Given the description of an element on the screen output the (x, y) to click on. 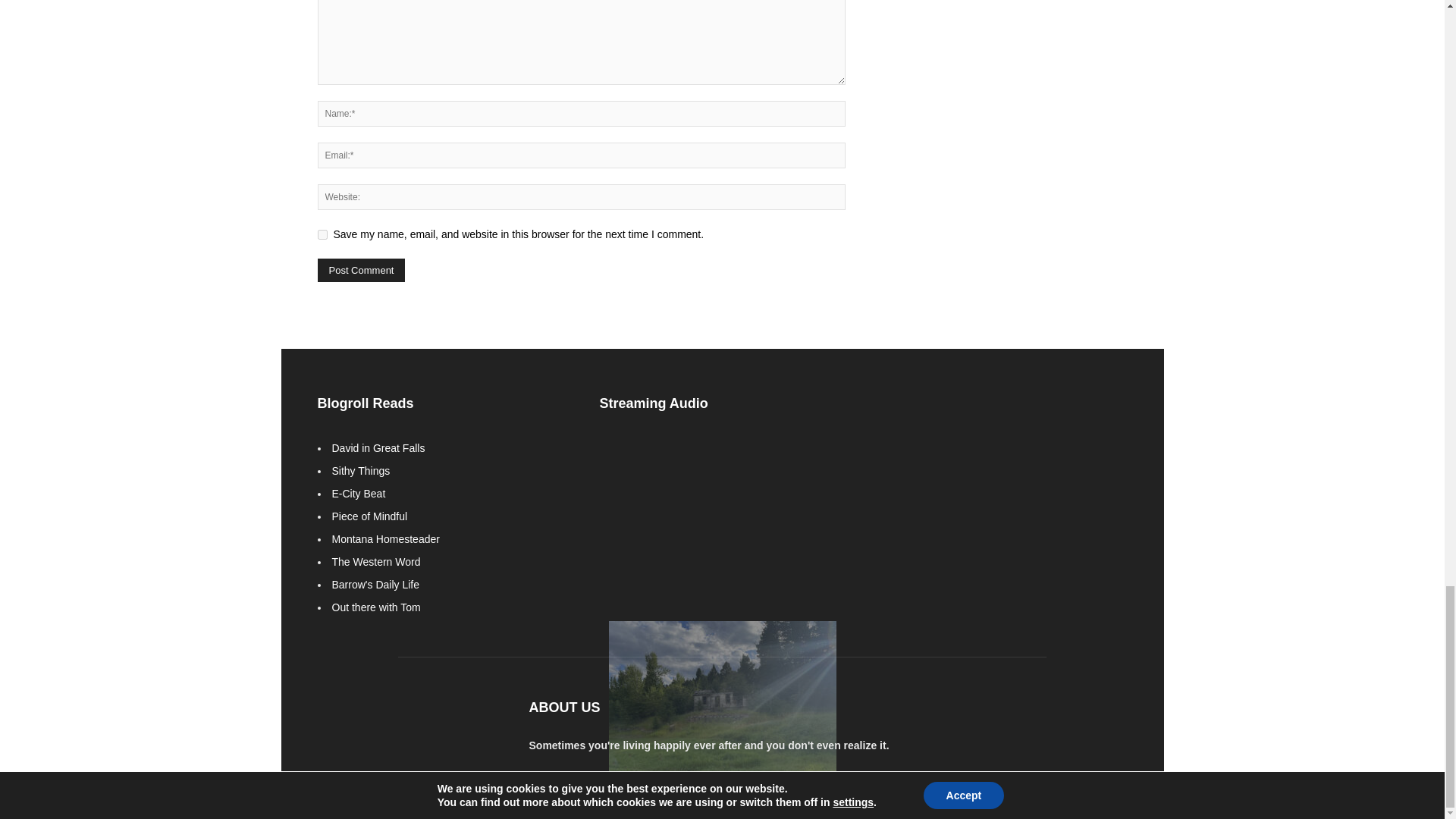
yes (321, 234)
Post Comment (360, 269)
